Given the description of an element on the screen output the (x, y) to click on. 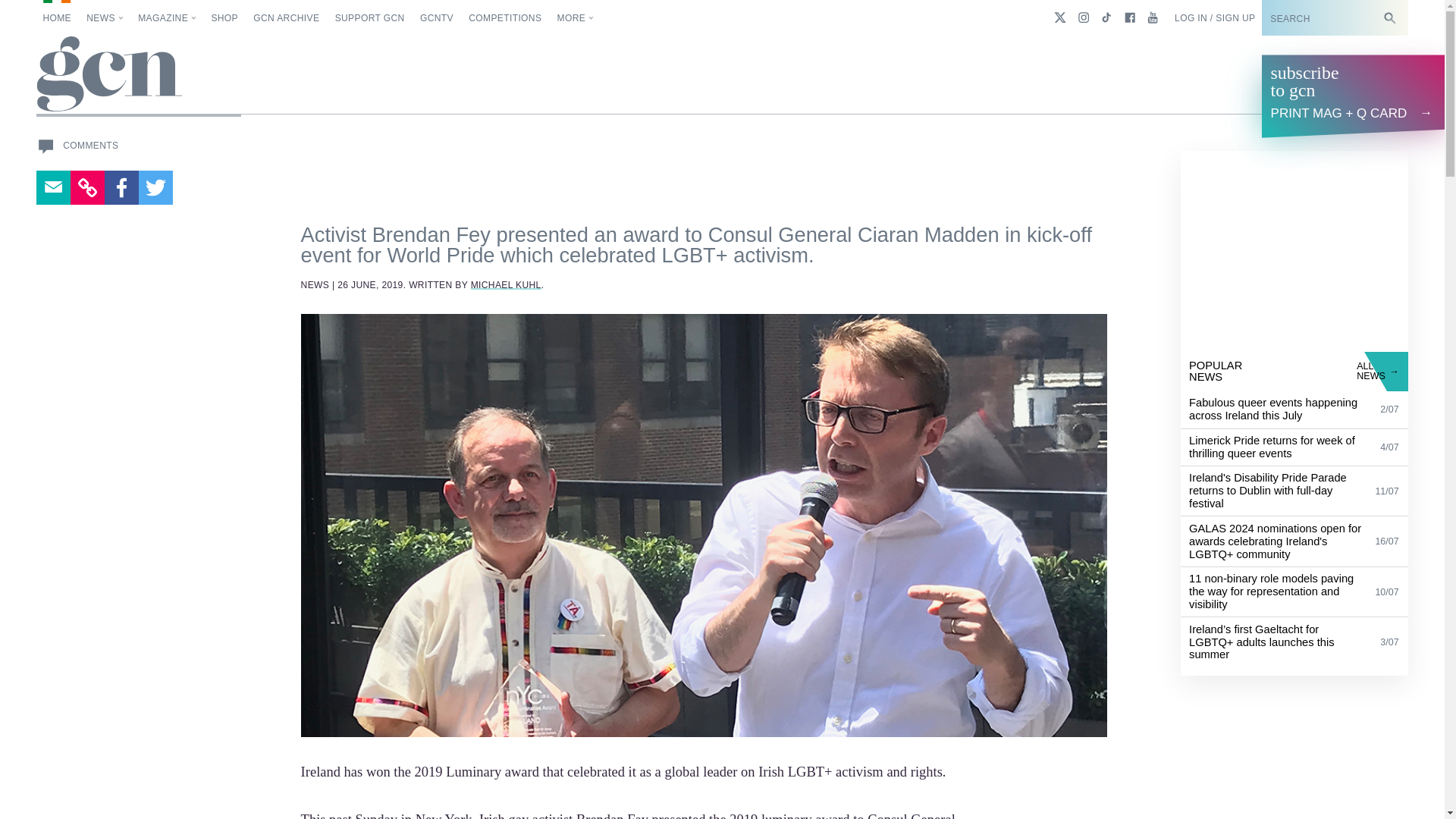
MORE (575, 18)
Subscribe to GCN (1324, 18)
GCNTV (436, 18)
SUPPORT GCN (369, 18)
Log in or sign up to GCN (1215, 18)
NEWS (104, 18)
COMPETITIONS (505, 18)
HOME (56, 18)
SHOP (224, 18)
GCN ARCHIVE (285, 18)
MAGAZINE (167, 18)
